Given the description of an element on the screen output the (x, y) to click on. 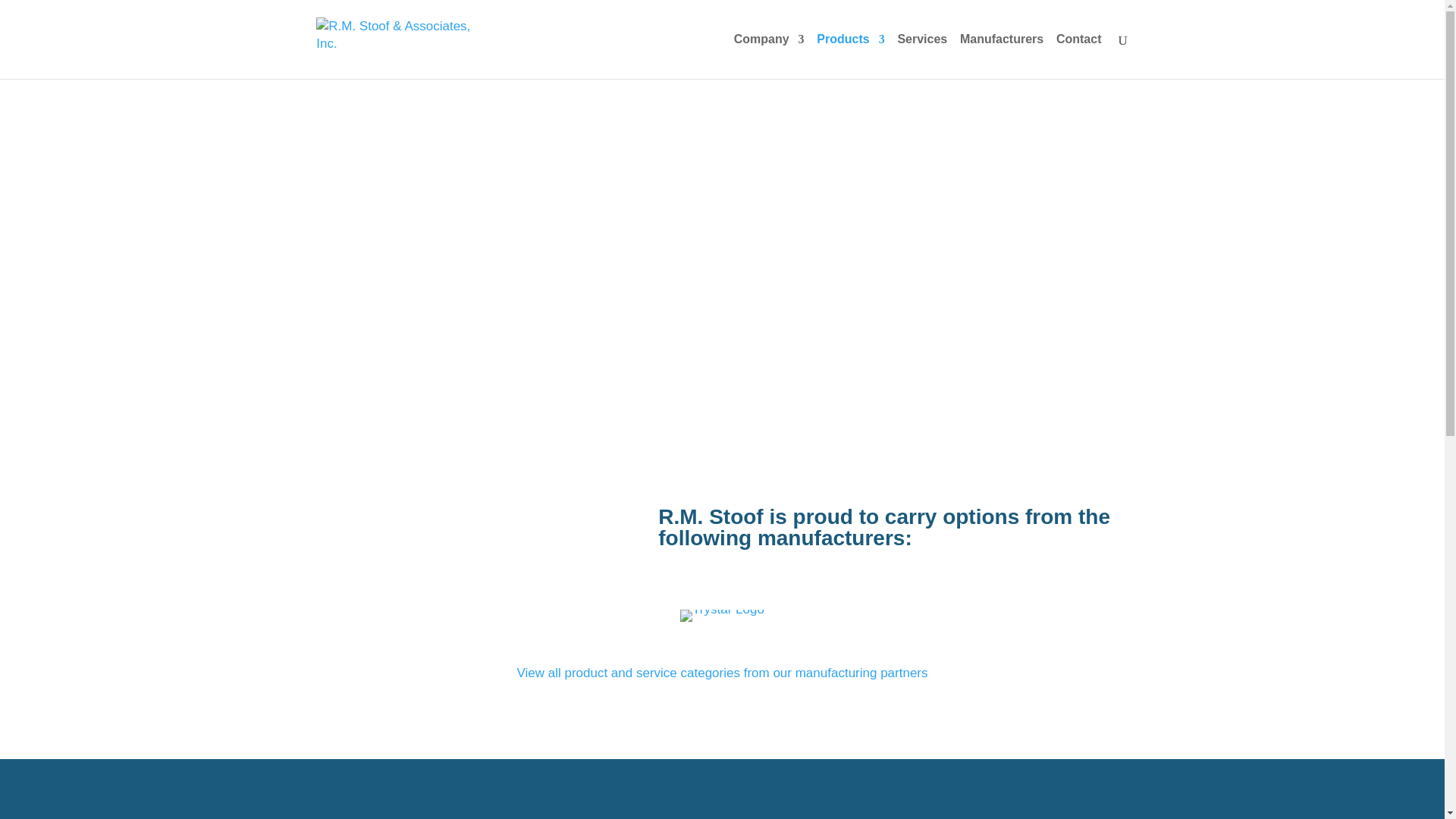
Manufacturers (1001, 56)
logo-controlled-power-company (721, 615)
Products (849, 56)
Company (769, 56)
Services (921, 56)
Contact (1079, 56)
